Given the description of an element on the screen output the (x, y) to click on. 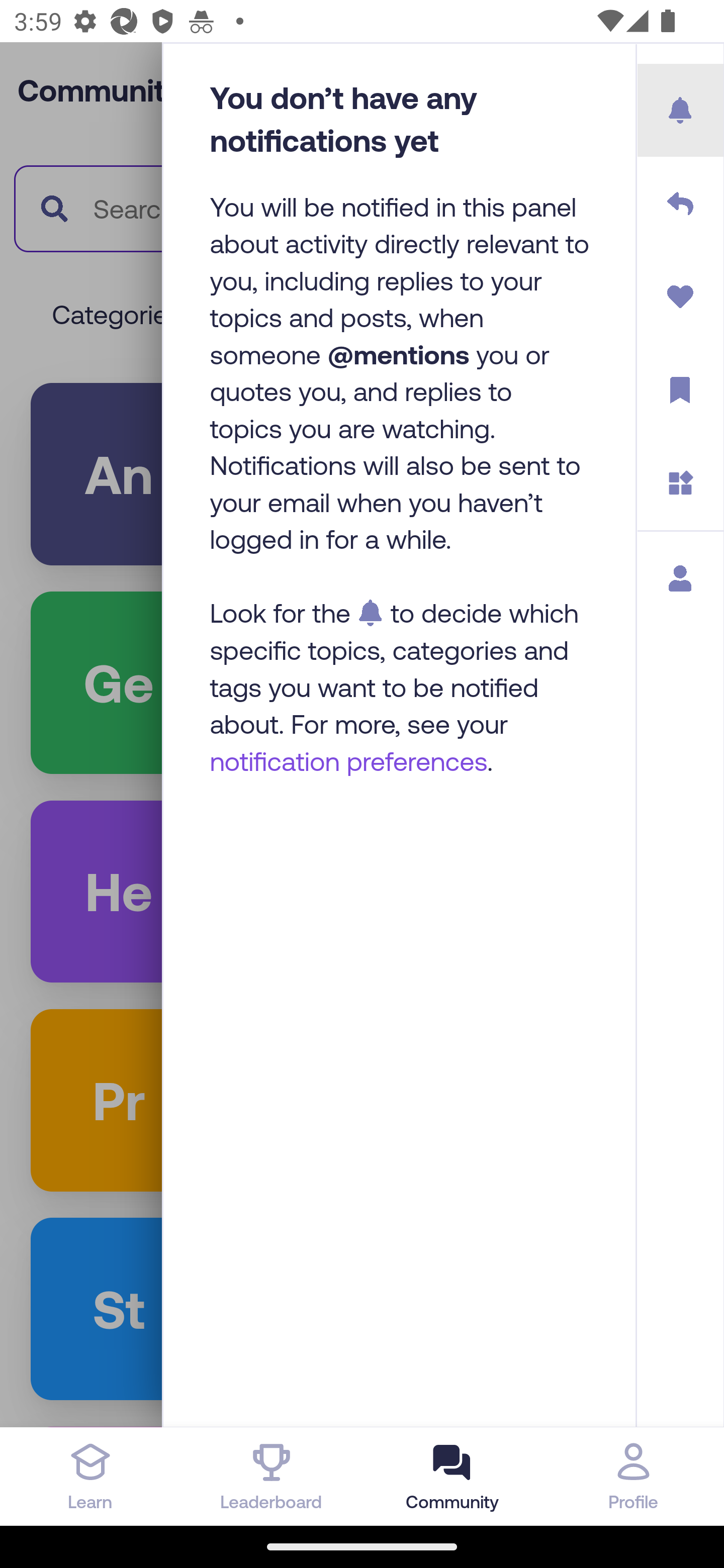
All notifications (680, 110)
Replies (680, 203)
Likes (680, 296)
Bookmarks (680, 390)
Other notifications (680, 483)
Profile (680, 578)
notification preferences (349, 760)
Learn (90, 1475)
Leaderboard (271, 1475)
Profile (633, 1475)
